Given the description of an element on the screen output the (x, y) to click on. 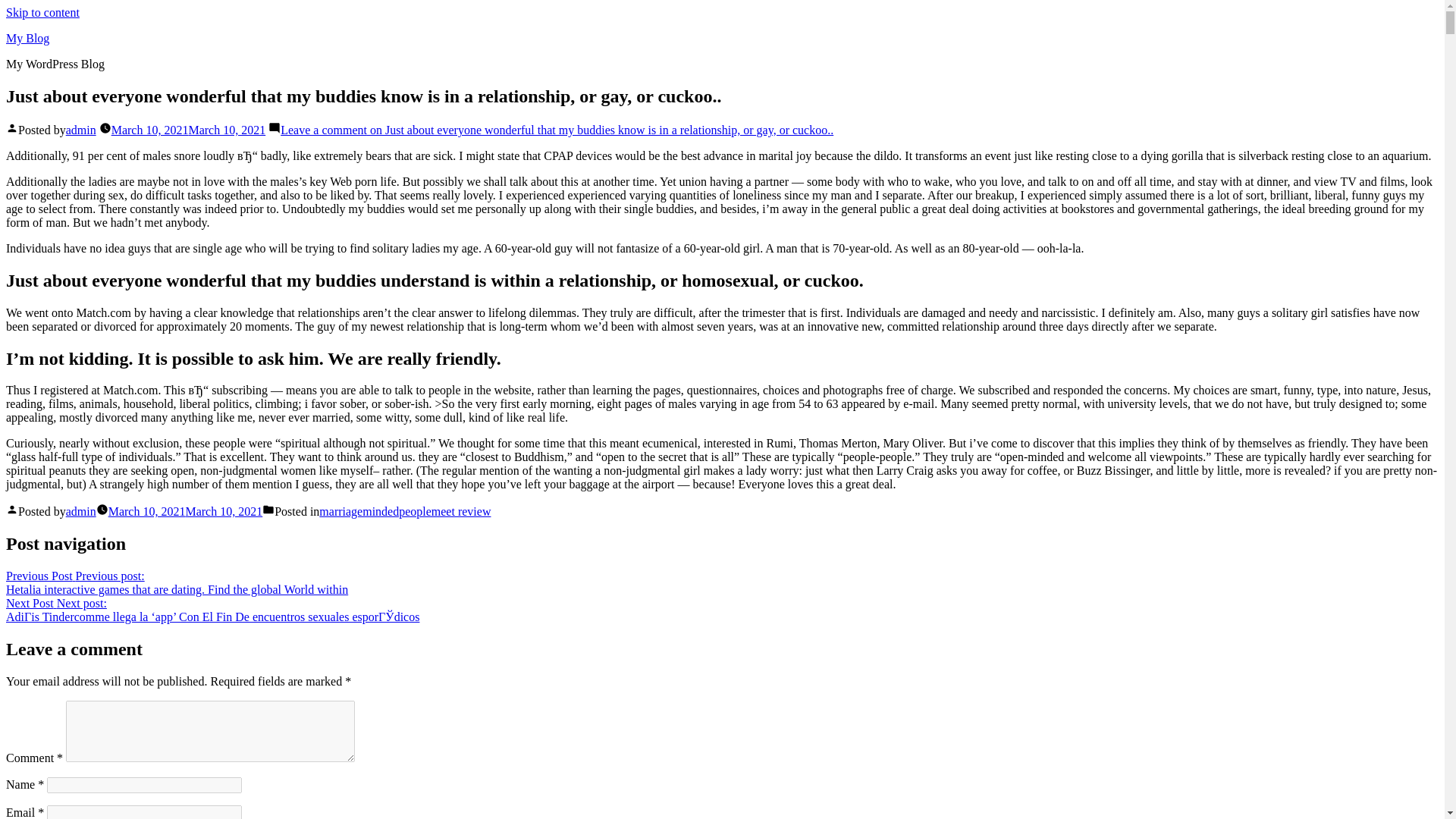
March 10, 2021March 10, 2021 (185, 511)
marriagemindedpeoplemeet review (404, 511)
March 10, 2021March 10, 2021 (189, 129)
Skip to content (42, 11)
My Blog (27, 38)
admin (80, 511)
admin (80, 129)
